Given the description of an element on the screen output the (x, y) to click on. 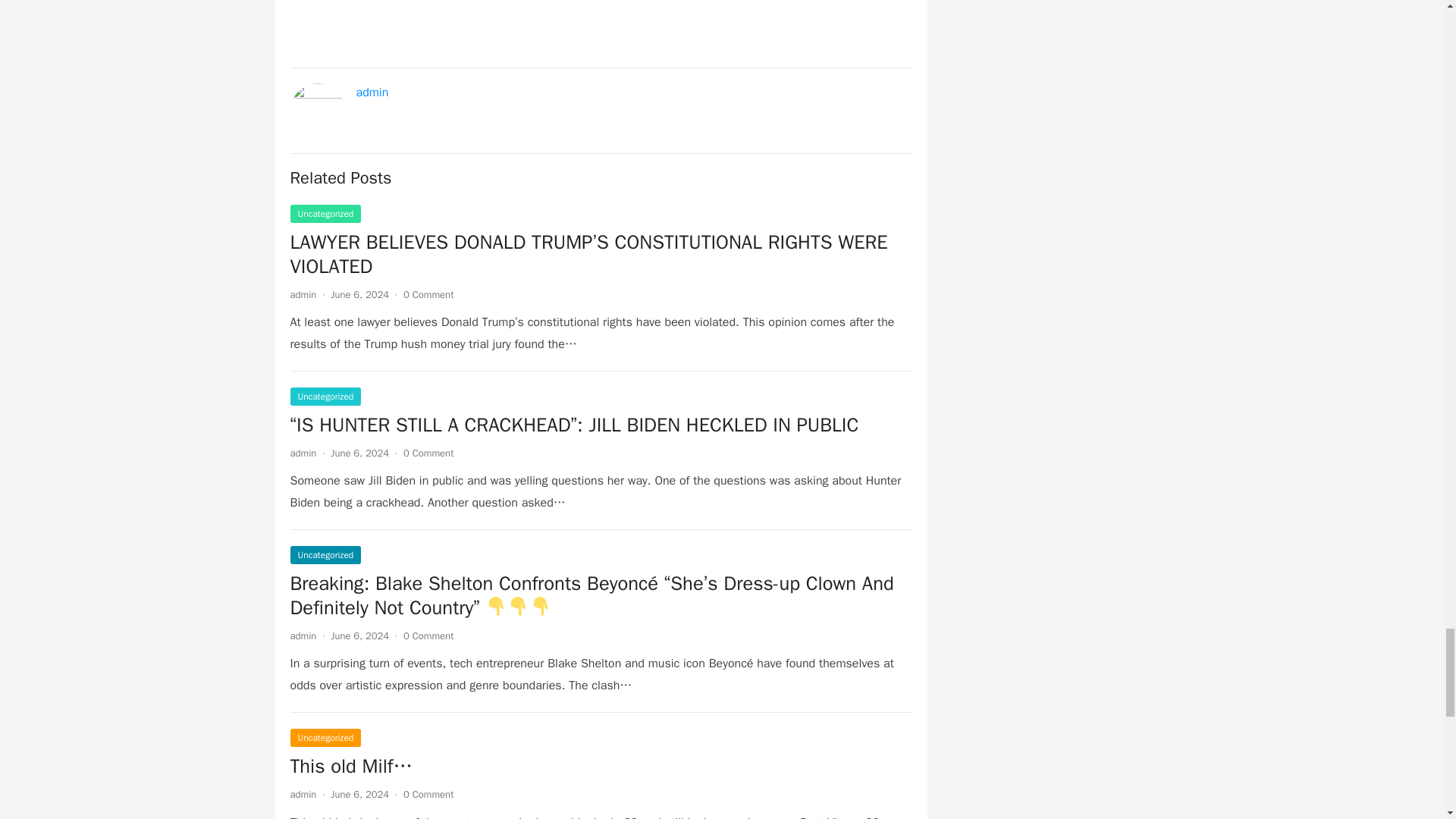
Posts by admin (302, 452)
0 Comment (427, 793)
Uncategorized (325, 213)
admin (302, 294)
admin (302, 635)
0 Comment (427, 452)
Posts by admin (302, 635)
Posts by admin (302, 793)
admin (302, 452)
admin (302, 793)
